Given the description of an element on the screen output the (x, y) to click on. 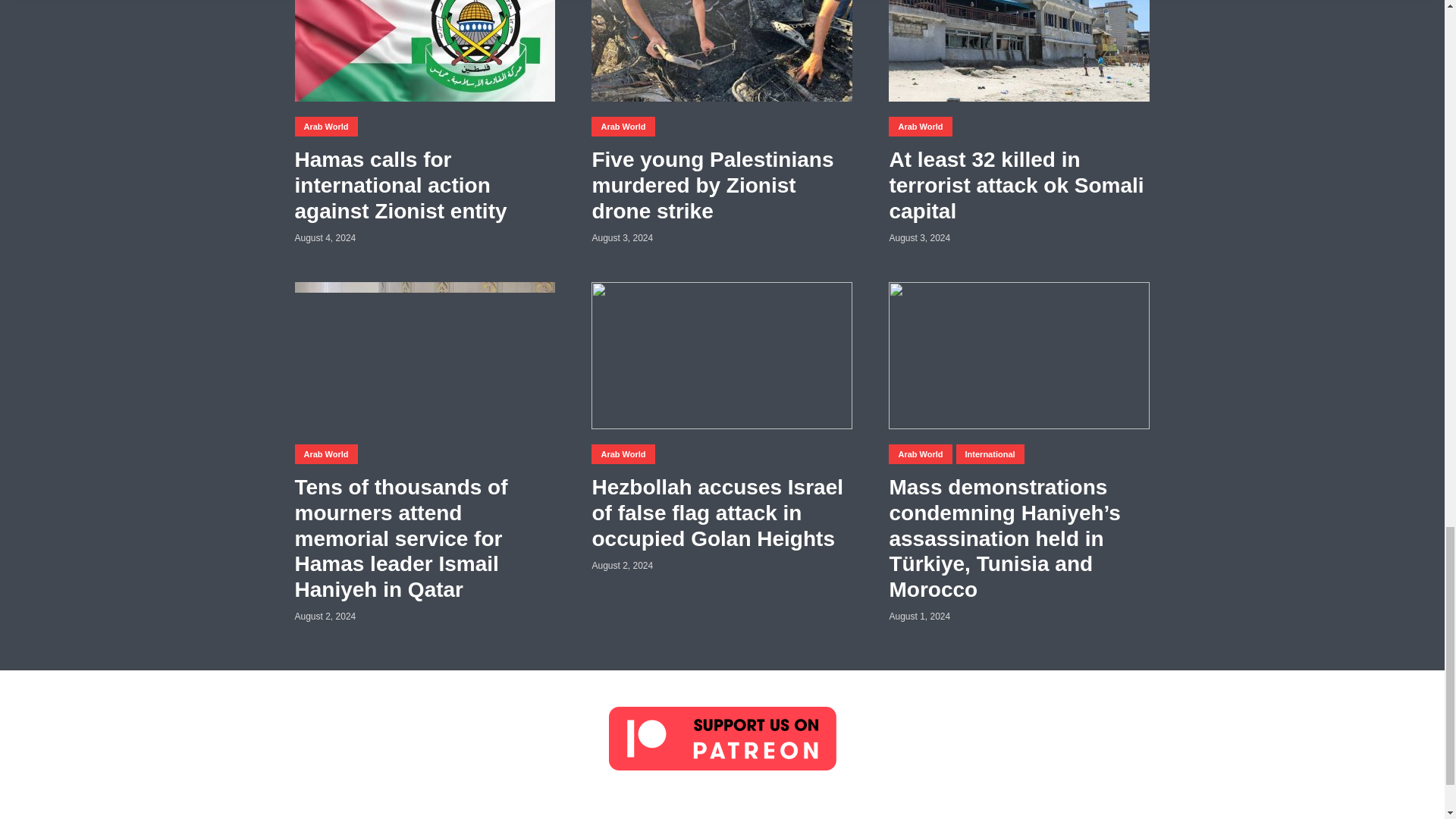
Arab World (325, 126)
